Given the description of an element on the screen output the (x, y) to click on. 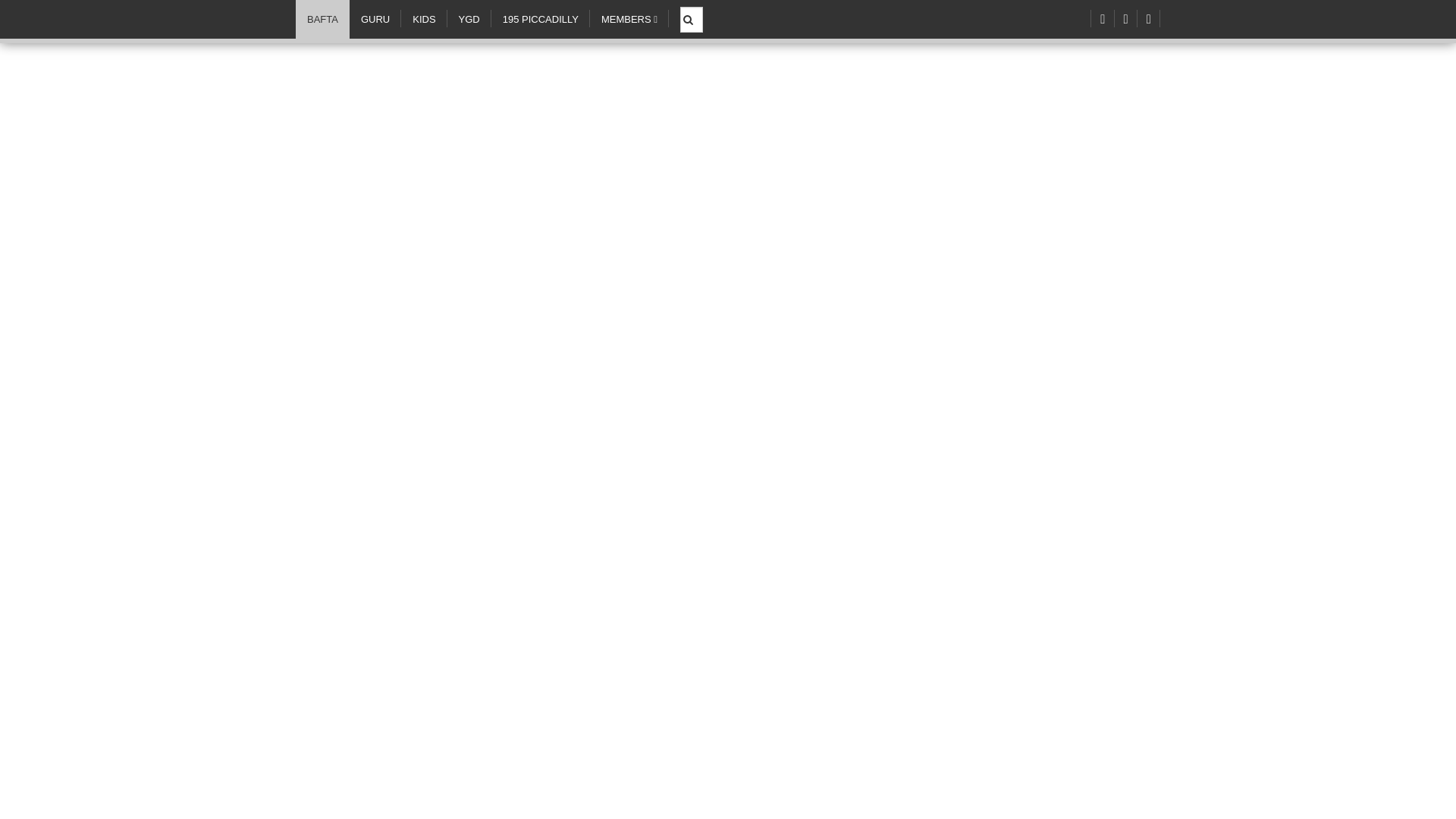
195 PICCADILLY (540, 19)
KIDS (423, 19)
YGD (469, 19)
MEMBERS (628, 19)
Search (692, 10)
GURU (375, 19)
BAFTA (322, 19)
